Given the description of an element on the screen output the (x, y) to click on. 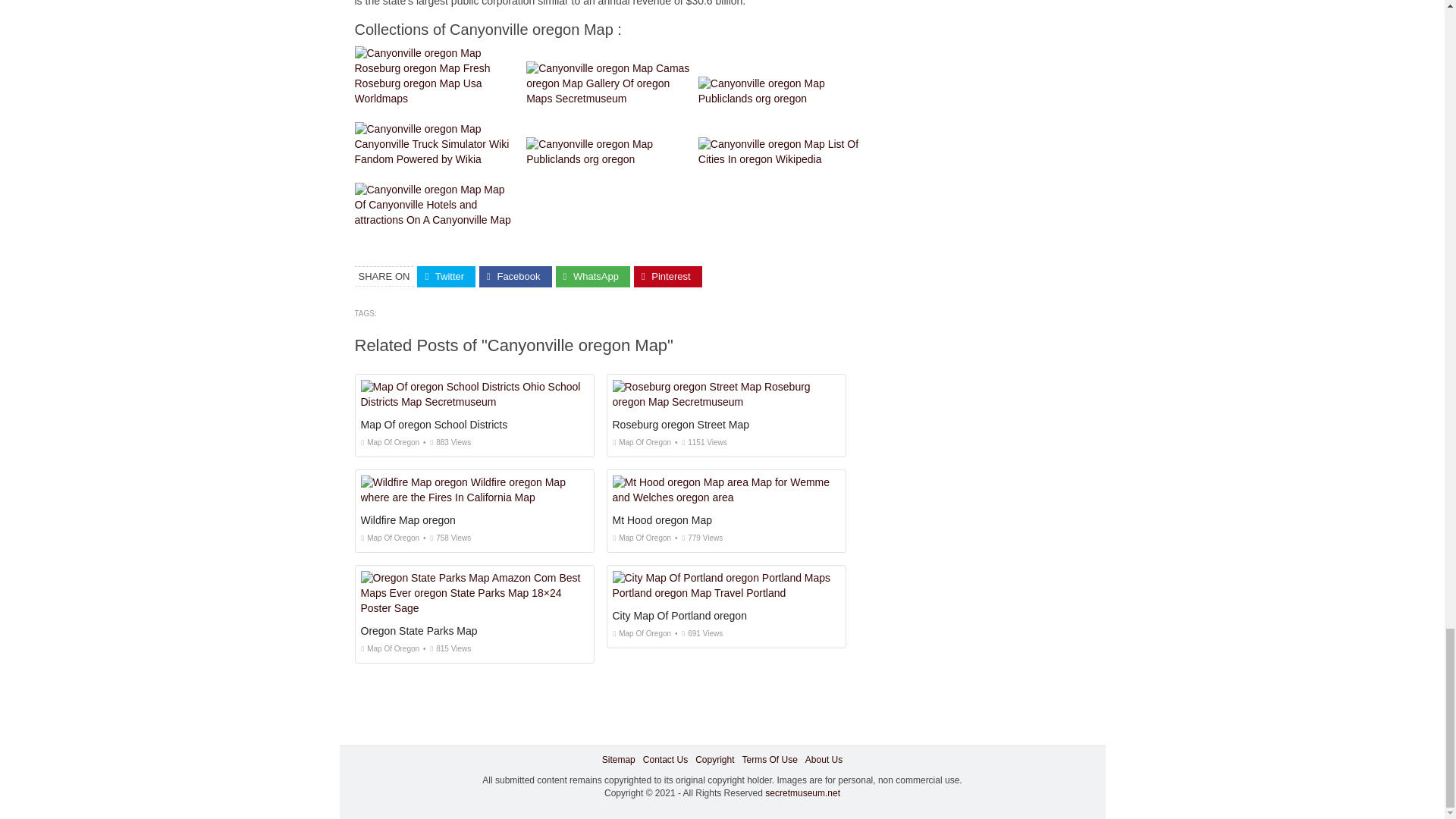
Twitter (446, 277)
Wildfire Map oregon (408, 520)
Canyonville oregon Map Publiclands org oregon (607, 152)
Roseburg oregon Street Map (680, 424)
City Map Of Portland oregon (679, 615)
Share on WhatsApp (593, 277)
Map Of Oregon (641, 537)
Oregon State Parks Map (419, 630)
